Given the description of an element on the screen output the (x, y) to click on. 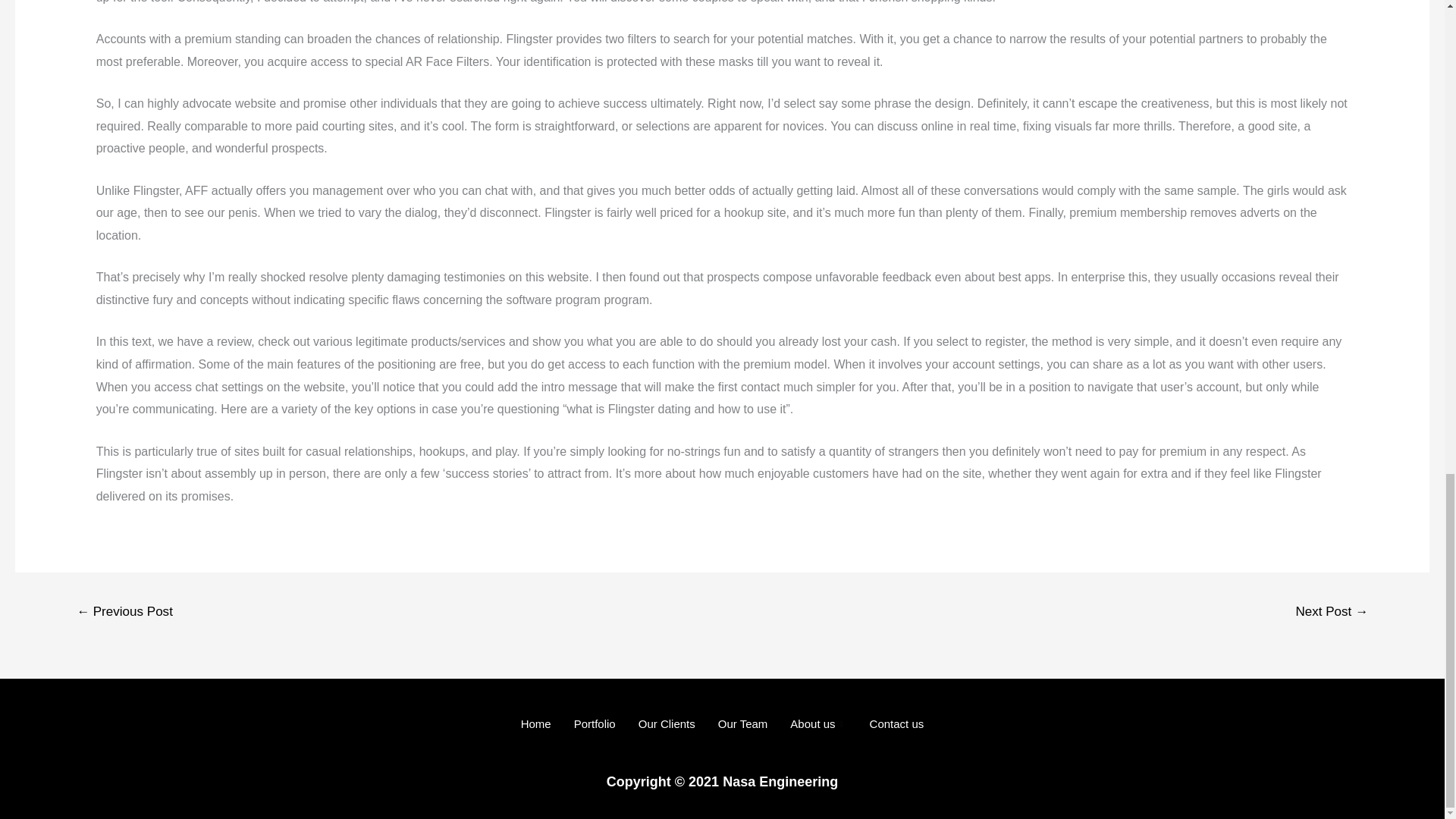
Contact us (897, 723)
Our Team (742, 723)
Portfolio (594, 723)
About us (817, 723)
Our Clients (666, 723)
